Given the description of an element on the screen output the (x, y) to click on. 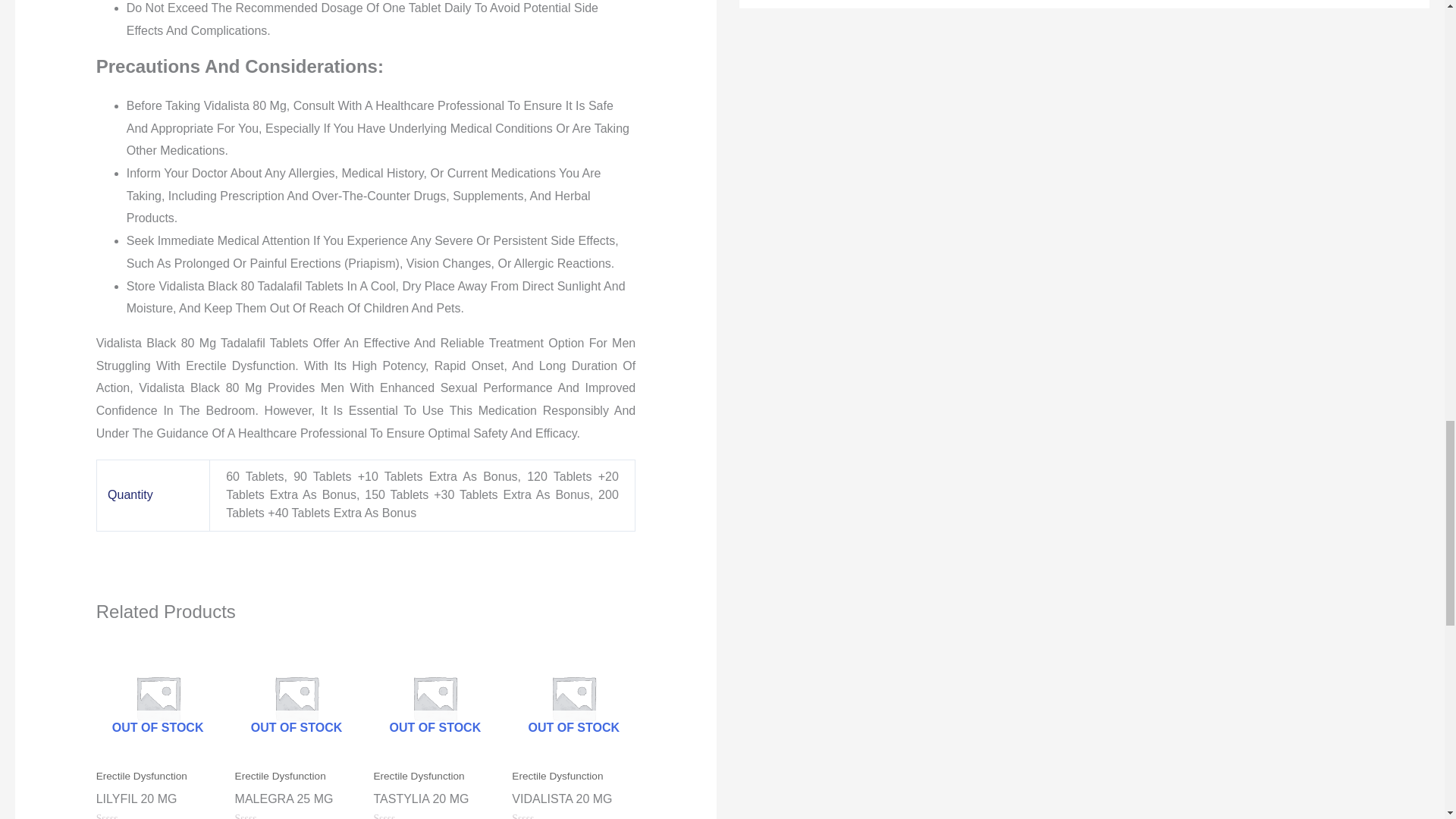
OUT OF STOCK (157, 698)
